Given the description of an element on the screen output the (x, y) to click on. 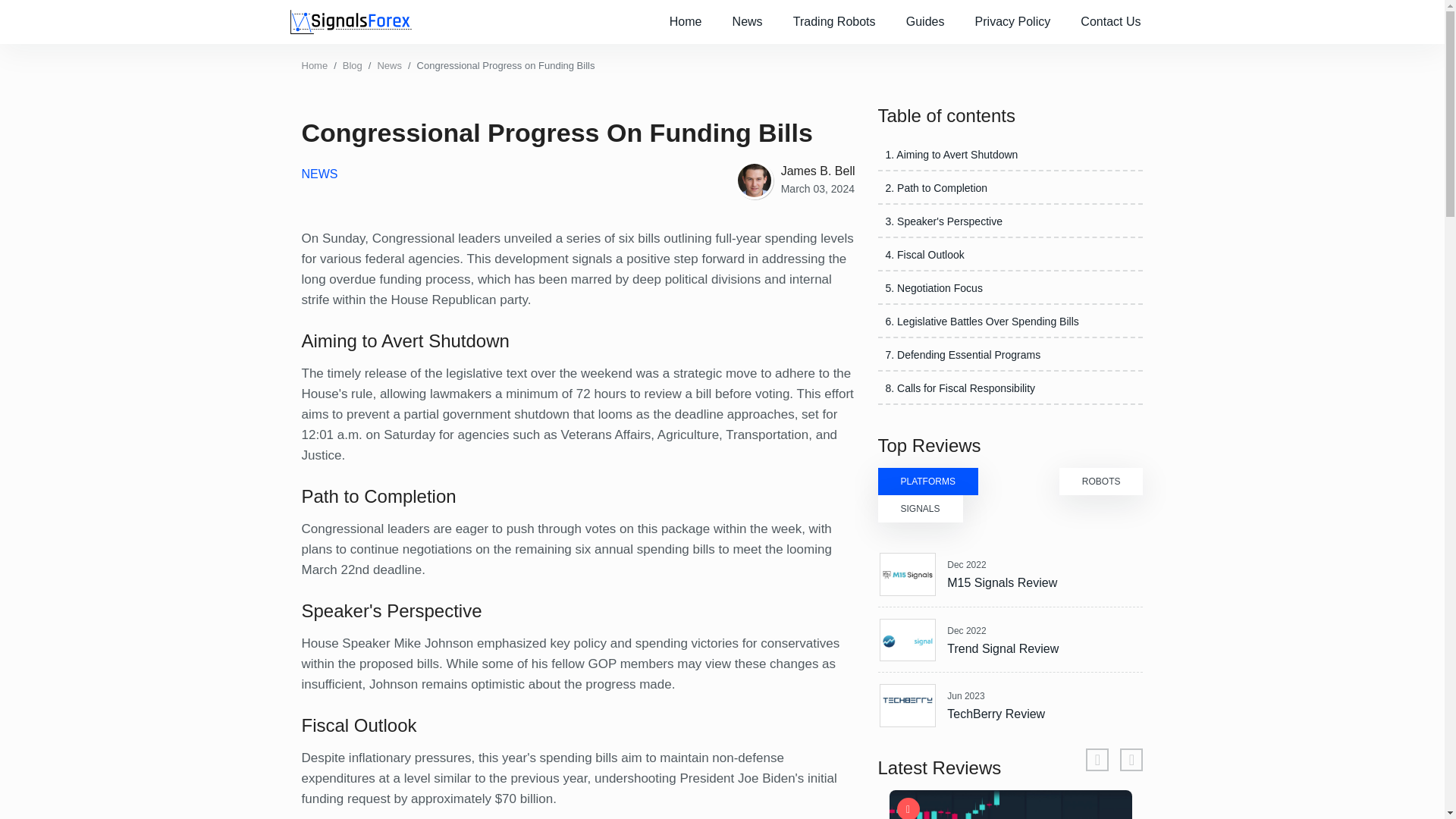
1. Aiming to Avert Shutdown (951, 154)
5. Negotiation Focus (933, 287)
3. Speaker's Perspective (944, 221)
Privacy Policy (1012, 22)
TechBerry Review (996, 713)
ROBOTS (1100, 481)
M15 Signals Review (1002, 582)
2. Path to Completion (936, 187)
News (747, 22)
Trading Robots (833, 22)
PLATFORMS (927, 481)
Blog (352, 65)
8. Calls for Fiscal Responsibility (960, 387)
Guides (925, 22)
6. Legislative Battles Over Spending Bills (981, 321)
